Given the description of an element on the screen output the (x, y) to click on. 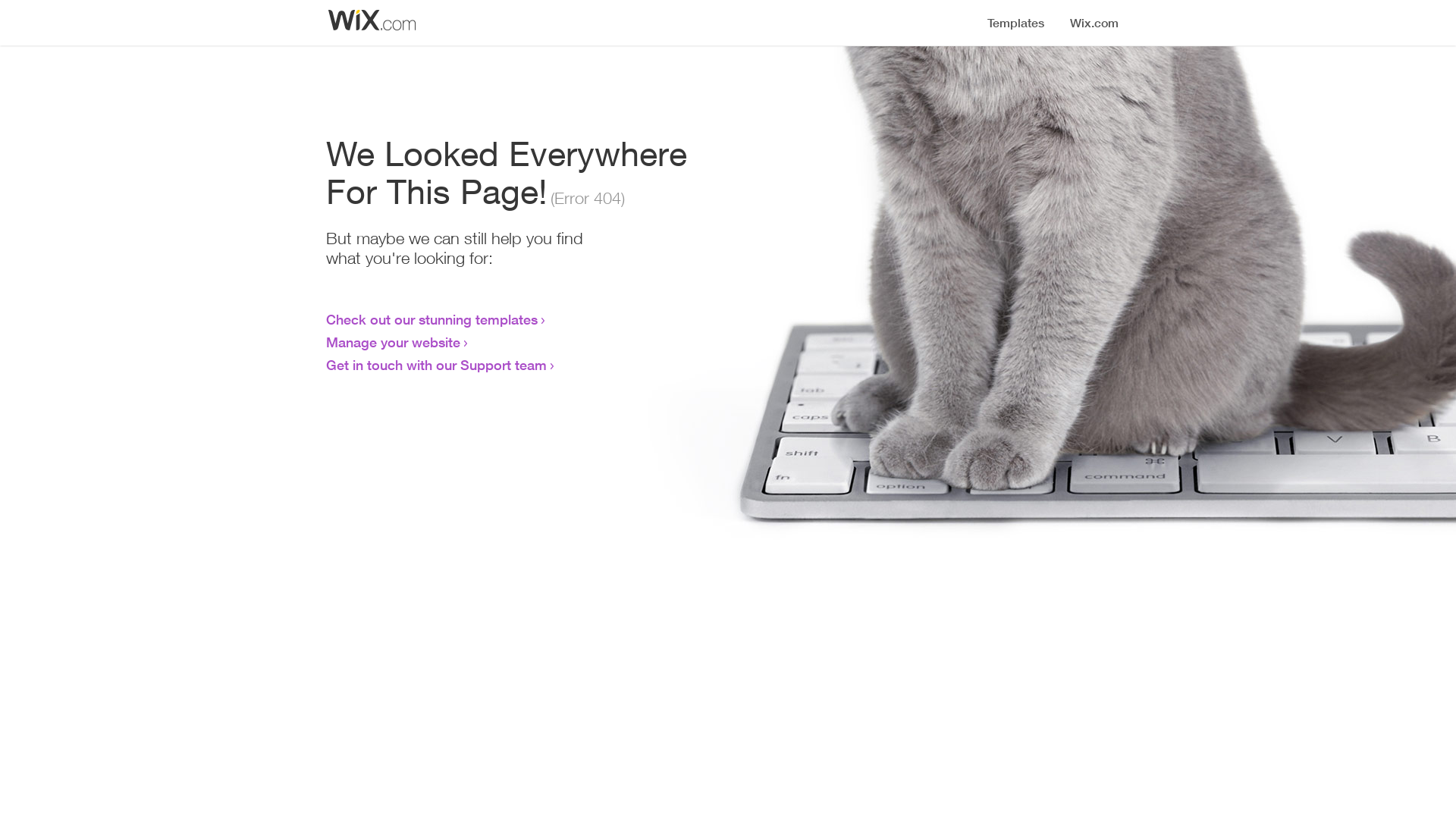
Get in touch with our Support team Element type: text (436, 364)
Manage your website Element type: text (393, 341)
Check out our stunning templates Element type: text (431, 318)
